Given the description of an element on the screen output the (x, y) to click on. 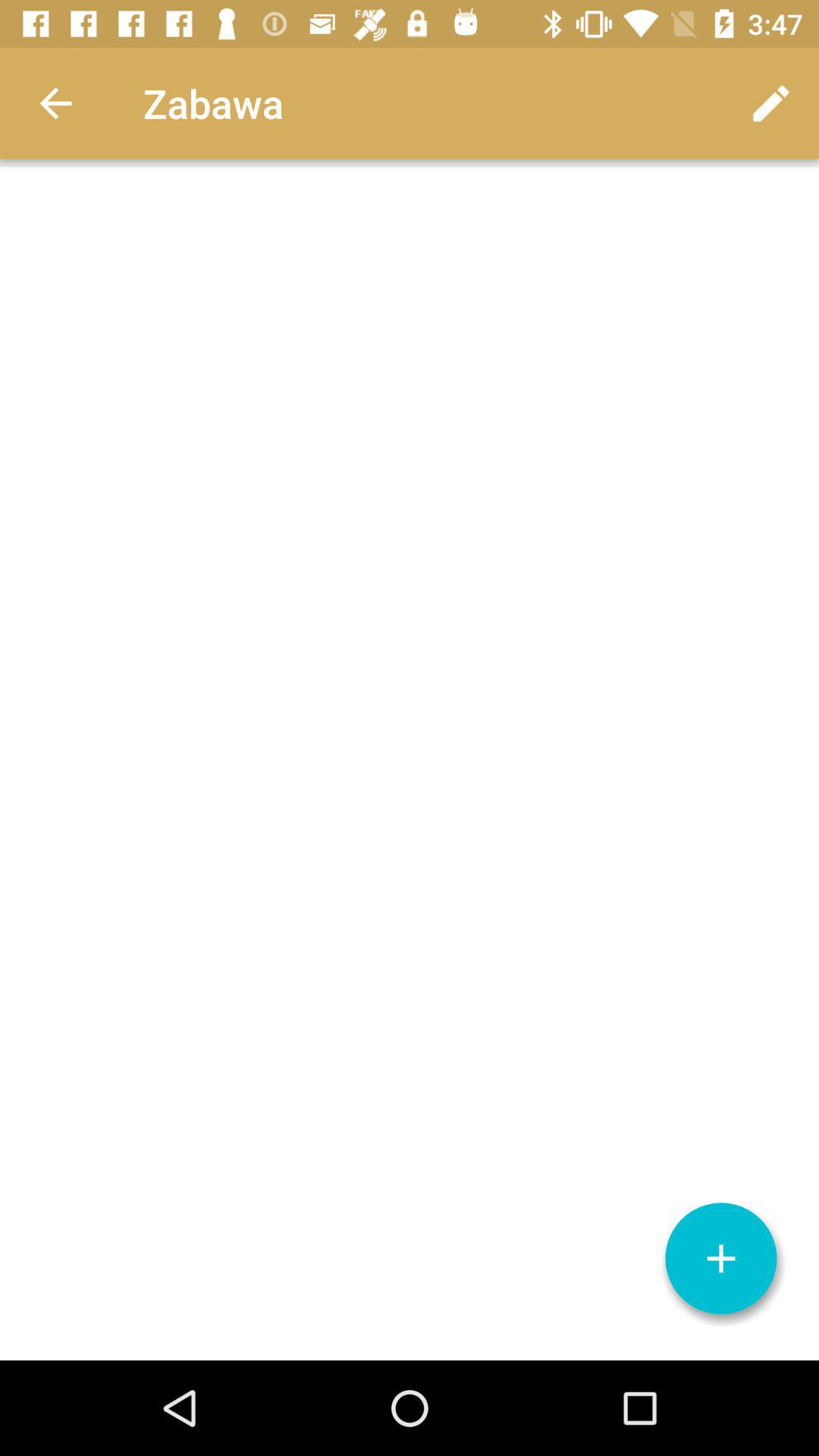
open the icon at the bottom right corner (721, 1258)
